Given the description of an element on the screen output the (x, y) to click on. 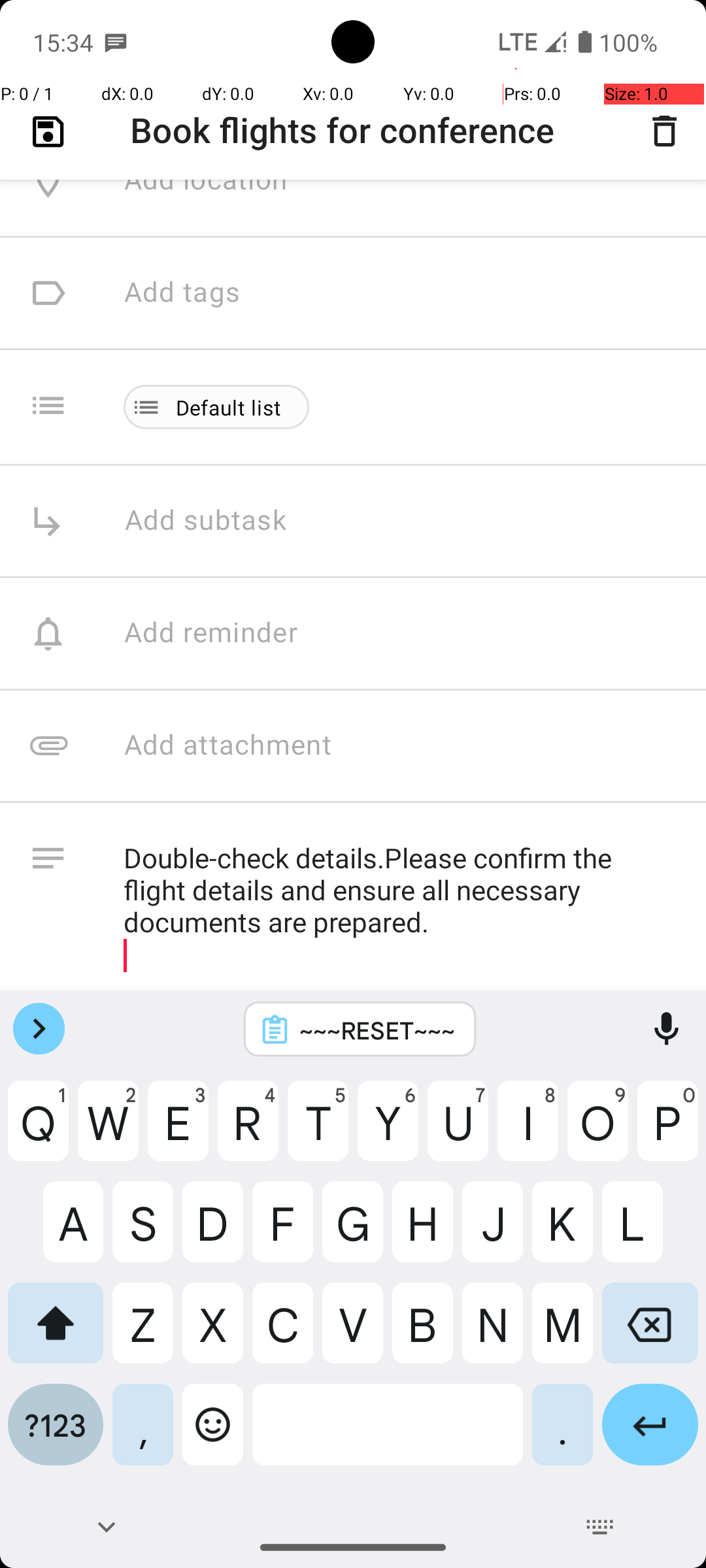
Book flights for conference Element type: android.widget.FrameLayout (353, 131)
Double-check details.Please confirm the flight details and ensure all necessary documents are prepared.
 Element type: android.widget.EditText (400, 906)
